Given the description of an element on the screen output the (x, y) to click on. 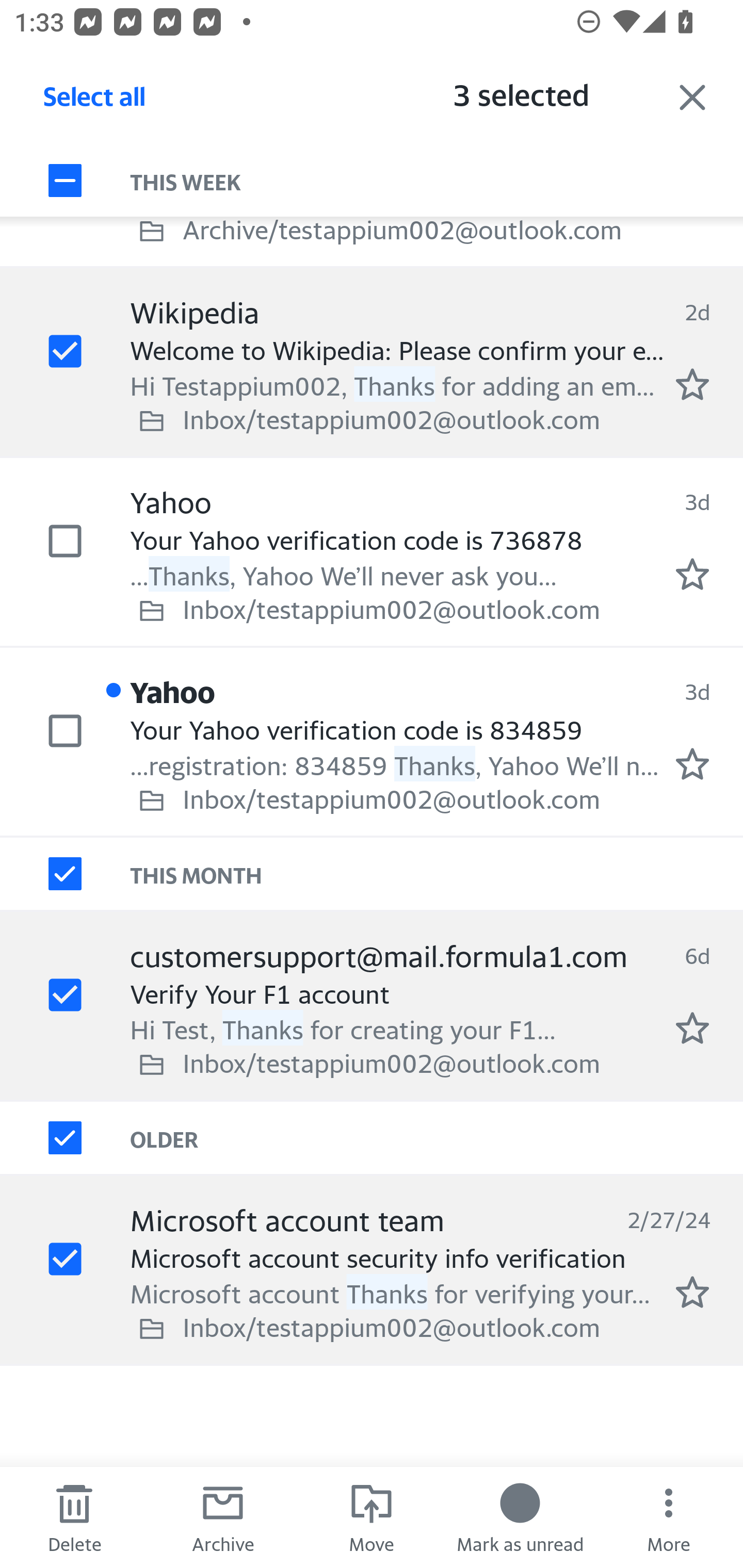
Exit selection mode (692, 97)
Select all (94, 101)
Mark as starred. (692, 384)
Mark as starred. (692, 574)
Mark as starred. (692, 764)
THIS MONTH (436, 873)
Mark as starred. (692, 1027)
OLDER (436, 1137)
Mark as starred. (692, 1291)
Delete (74, 1517)
Archive (222, 1517)
Move (371, 1517)
Mark as unread (519, 1517)
More (668, 1517)
